Given the description of an element on the screen output the (x, y) to click on. 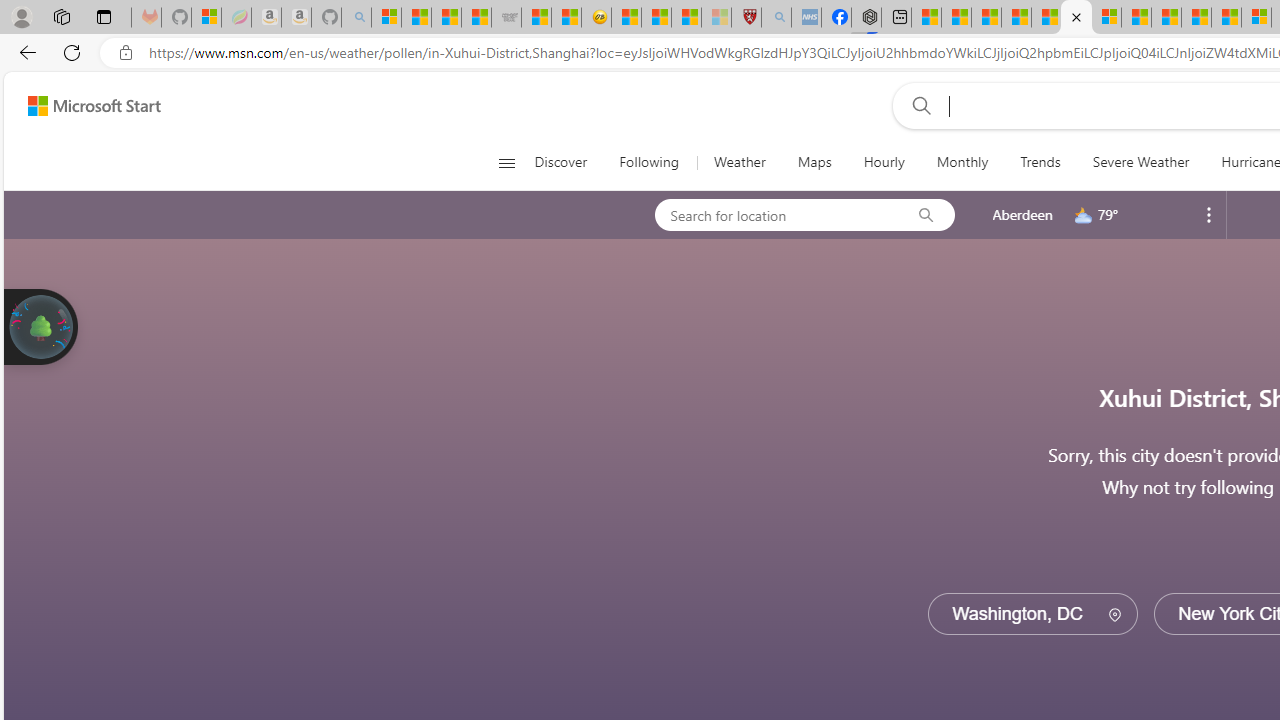
Monthly (962, 162)
Trends (1040, 162)
